Given the description of an element on the screen output the (x, y) to click on. 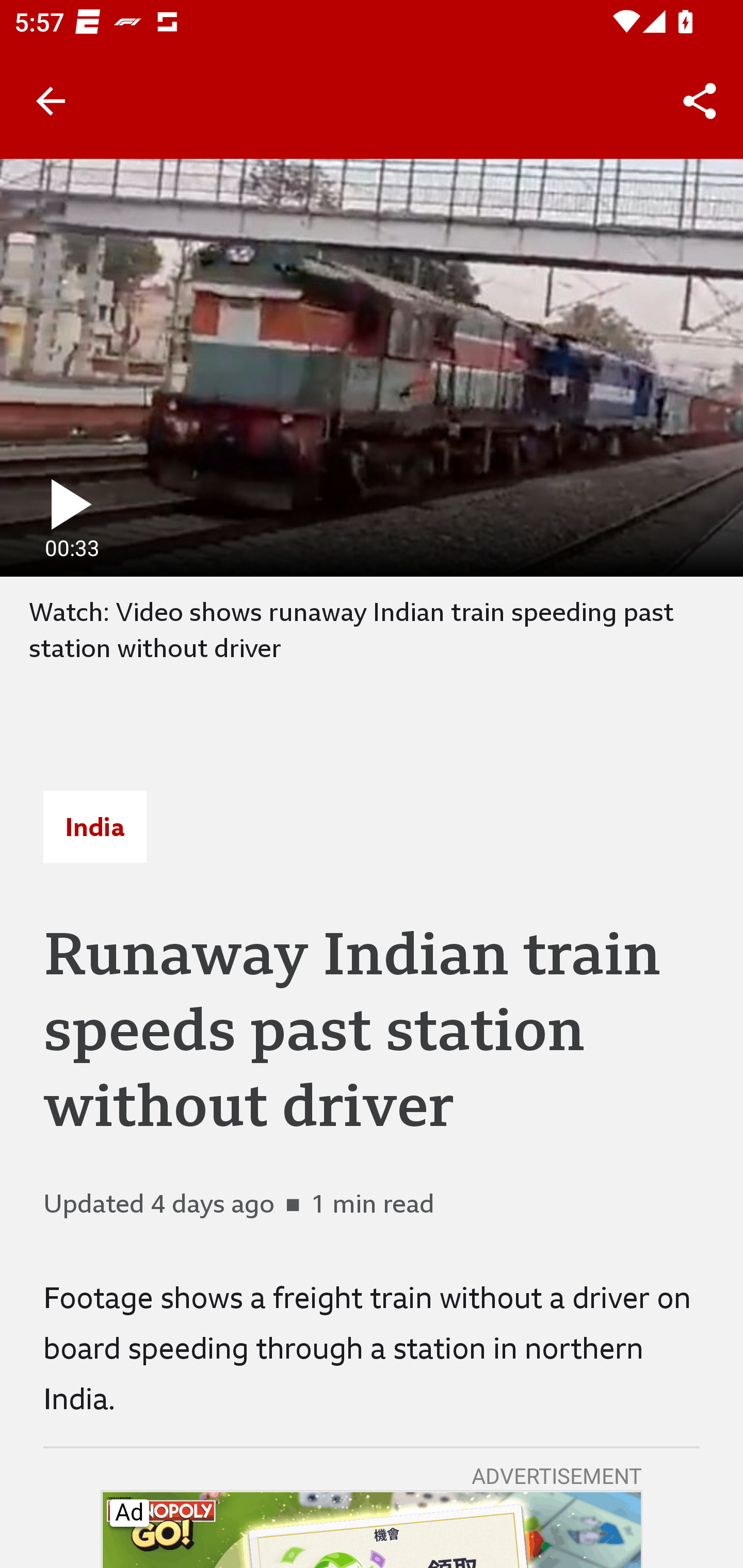
Back (50, 101)
Share (699, 101)
play fullscreen 00:33 0 minutes, 33 seconds (371, 367)
India (94, 827)
